Given the description of an element on the screen output the (x, y) to click on. 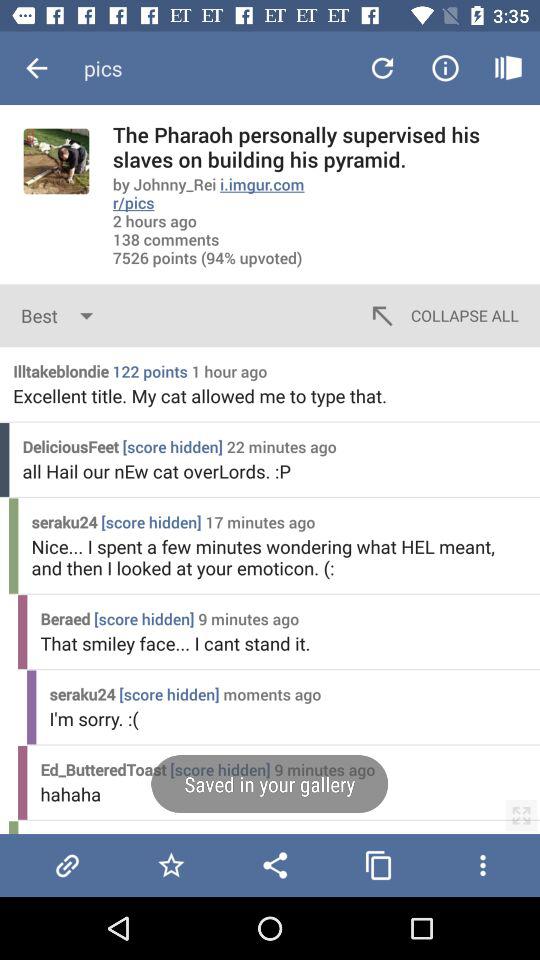
press the item next to the collapse all item (61, 315)
